Given the description of an element on the screen output the (x, y) to click on. 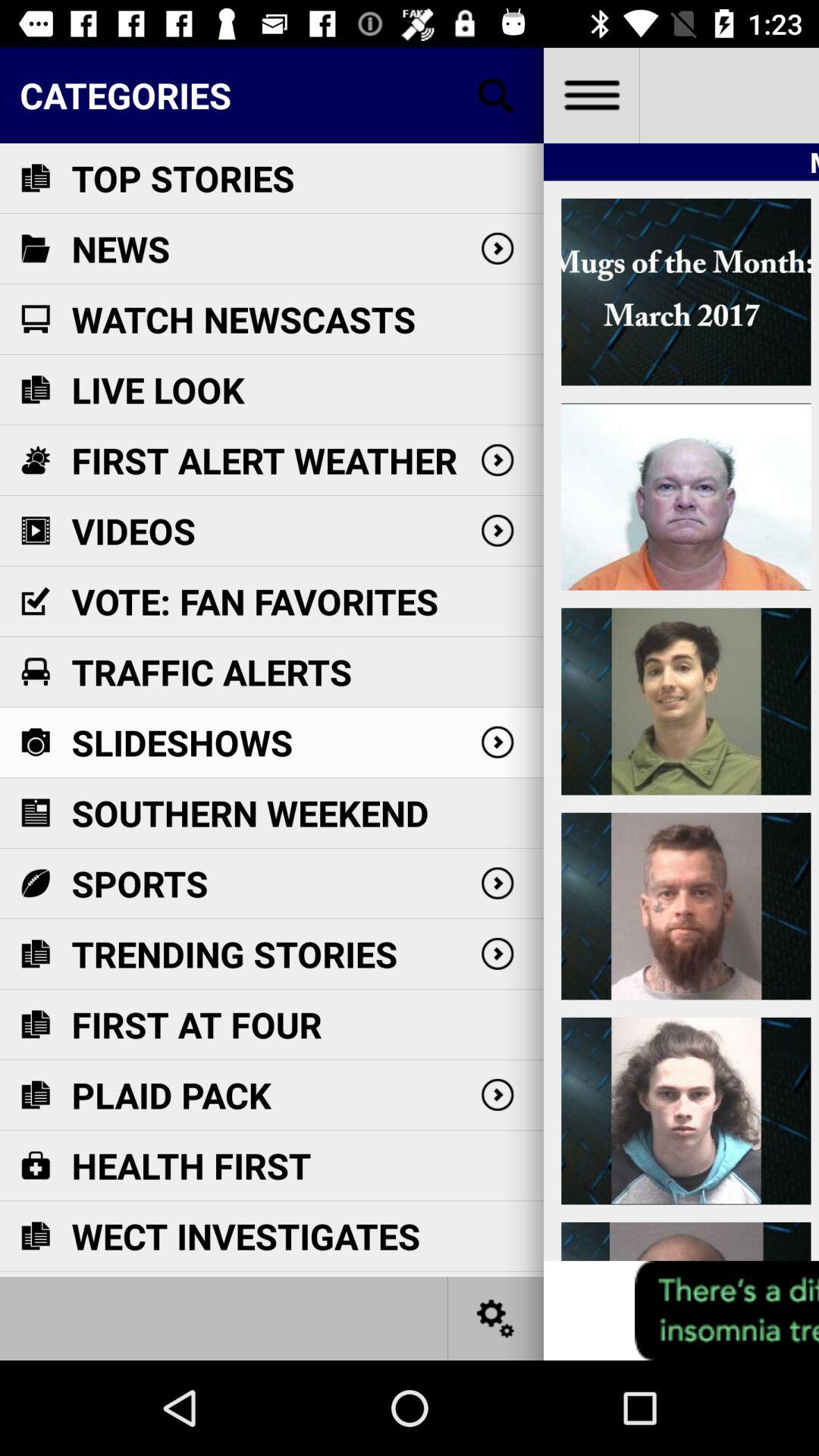
select the image beside the live look (35, 390)
